Given the description of an element on the screen output the (x, y) to click on. 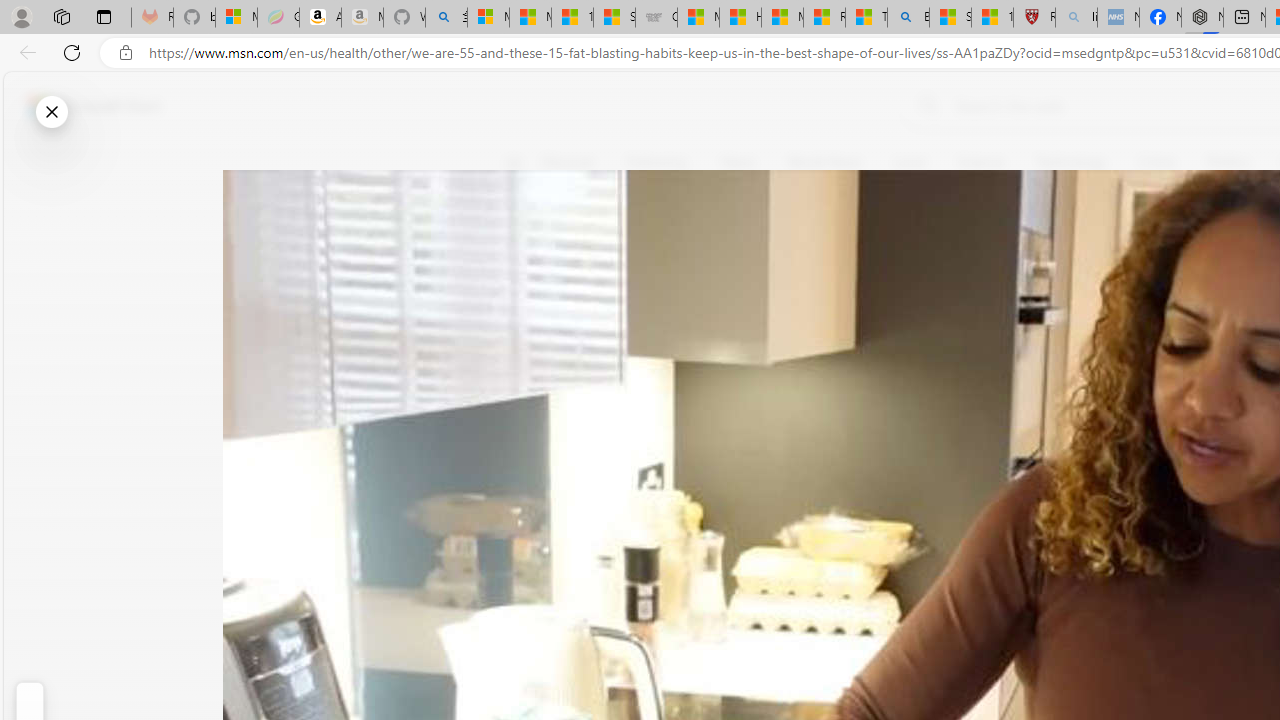
Skip to footer (82, 105)
Politics (1228, 162)
Class: button-glyph (513, 162)
Stocks - MSN (613, 17)
Following (656, 162)
Class: at-item (525, 468)
Bing (908, 17)
Technology (1071, 162)
Robert H. Shmerling, MD - Harvard Health (1033, 17)
Science - MSN (950, 17)
